Given the description of an element on the screen output the (x, y) to click on. 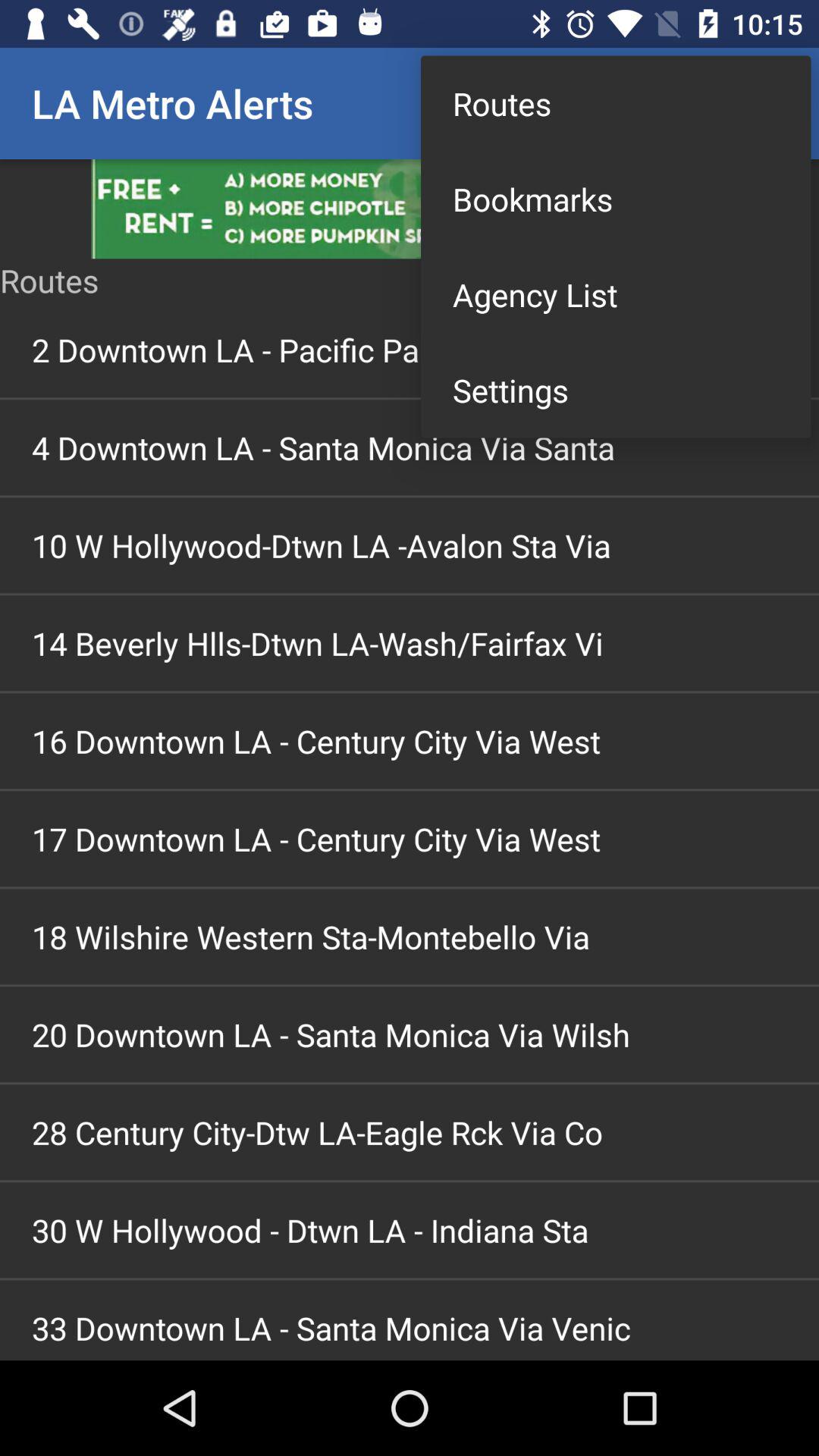
go to advertisement (409, 208)
